Given the description of an element on the screen output the (x, y) to click on. 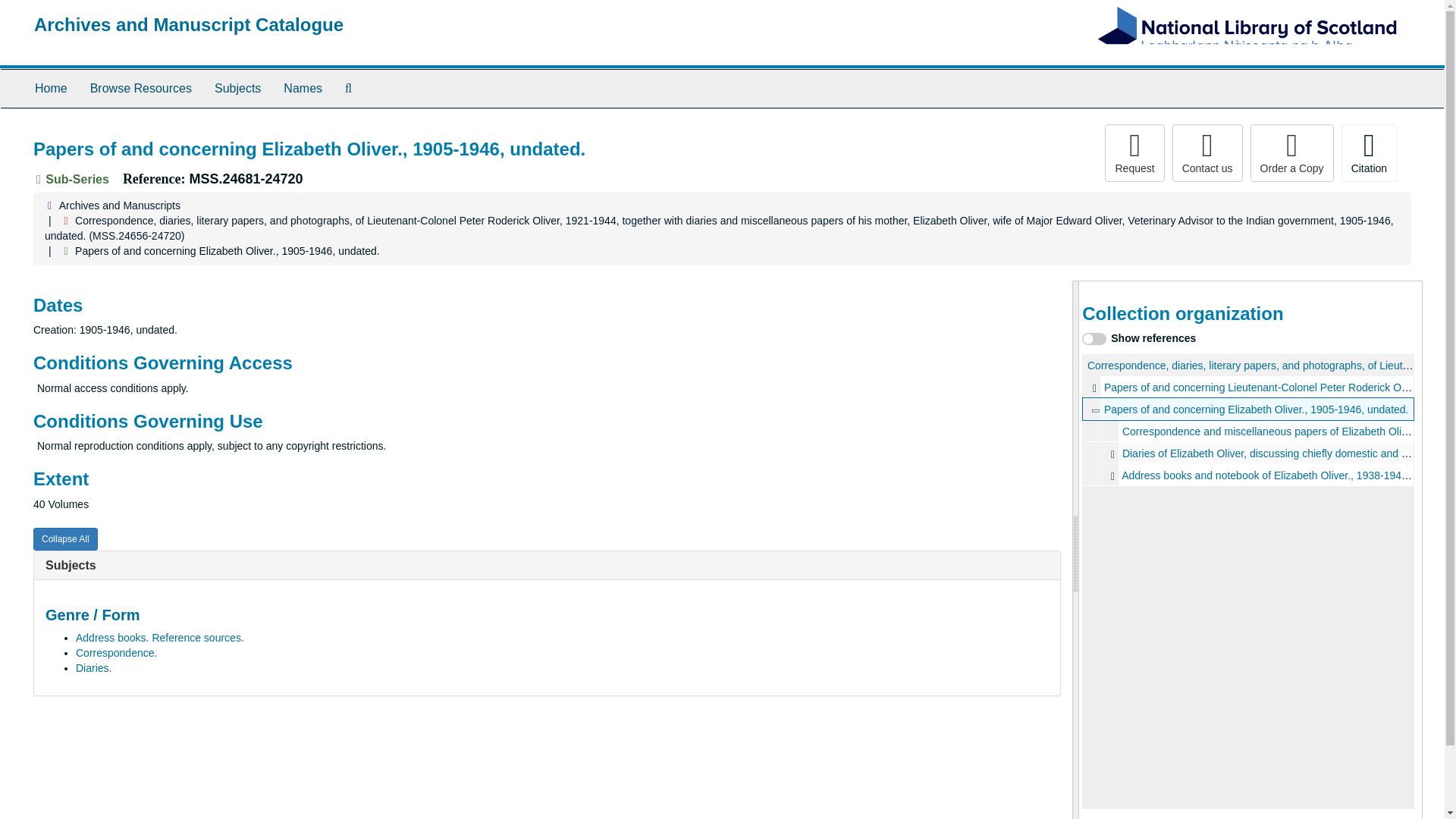
Correspondence and miscellaneous papers of Elizabeth Oliver. (1248, 431)
Address books and notebook of Elizabeth Oliver. (1248, 475)
Address books. Reference sources. (159, 637)
Archives and Manuscript Catalogue (188, 24)
Page Actions (1130, 152)
Order a Copy (1291, 152)
Return to the ArchivesSpace homepage (188, 24)
Browse Resources (140, 88)
